Given the description of an element on the screen output the (x, y) to click on. 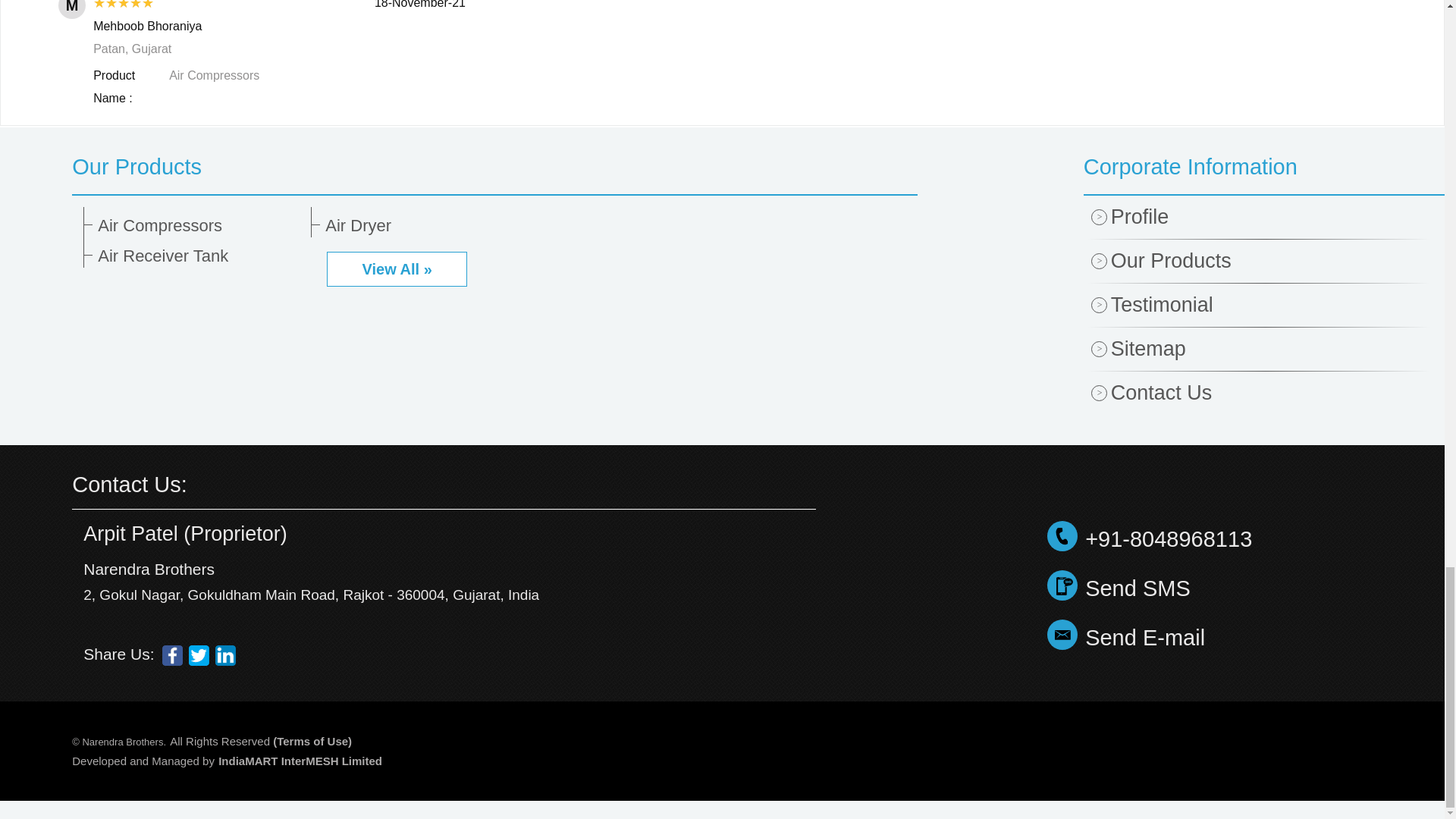
Contact Us: (129, 484)
Air Compressors (198, 226)
Air Dryer (426, 226)
T (199, 655)
Our Products (494, 167)
F (172, 655)
IndiaMART InterMESH Limited (299, 760)
L (225, 655)
Air Receiver Tank (198, 256)
